Given the description of an element on the screen output the (x, y) to click on. 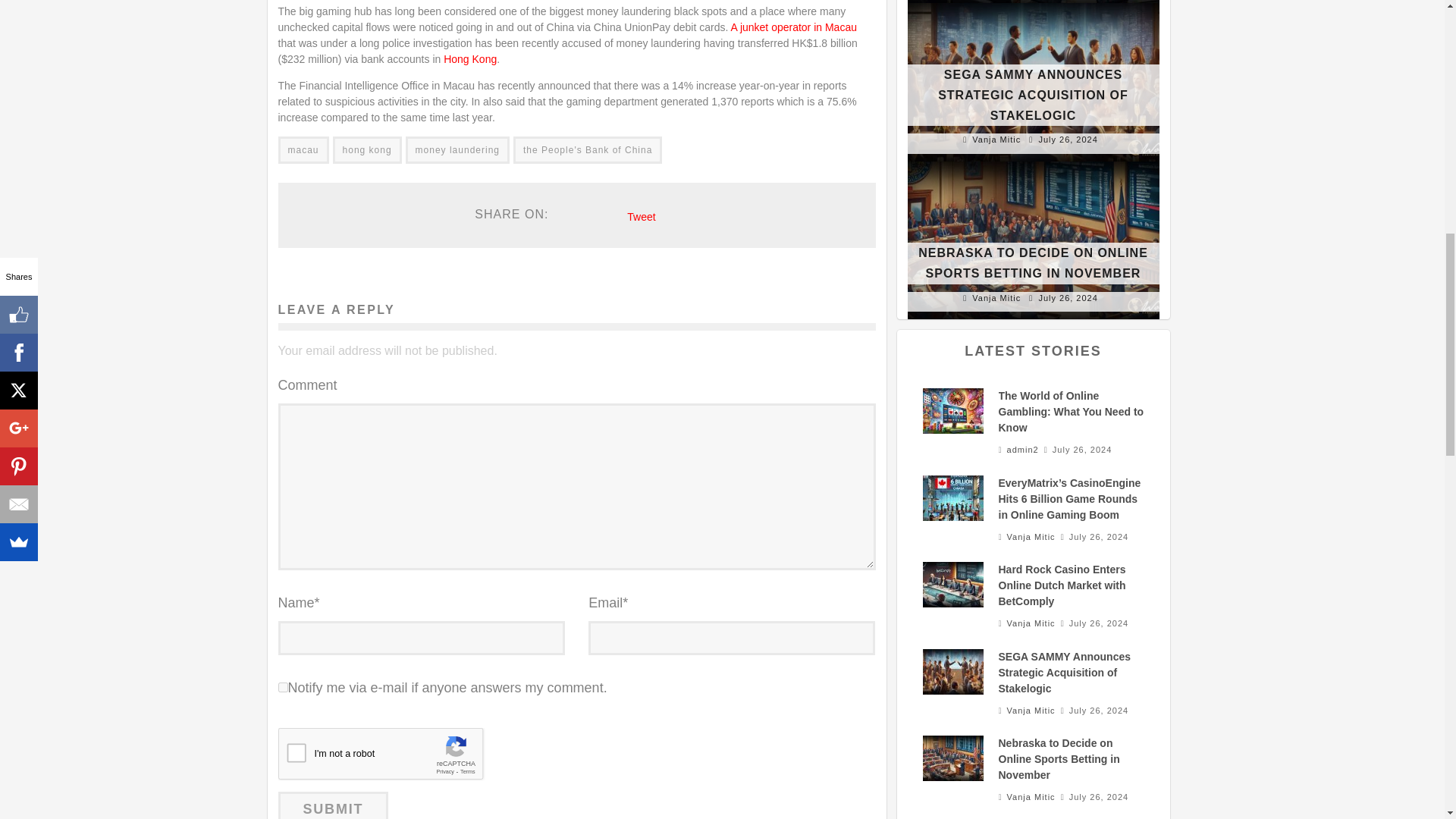
on (282, 687)
Submit (333, 805)
